Given the description of an element on the screen output the (x, y) to click on. 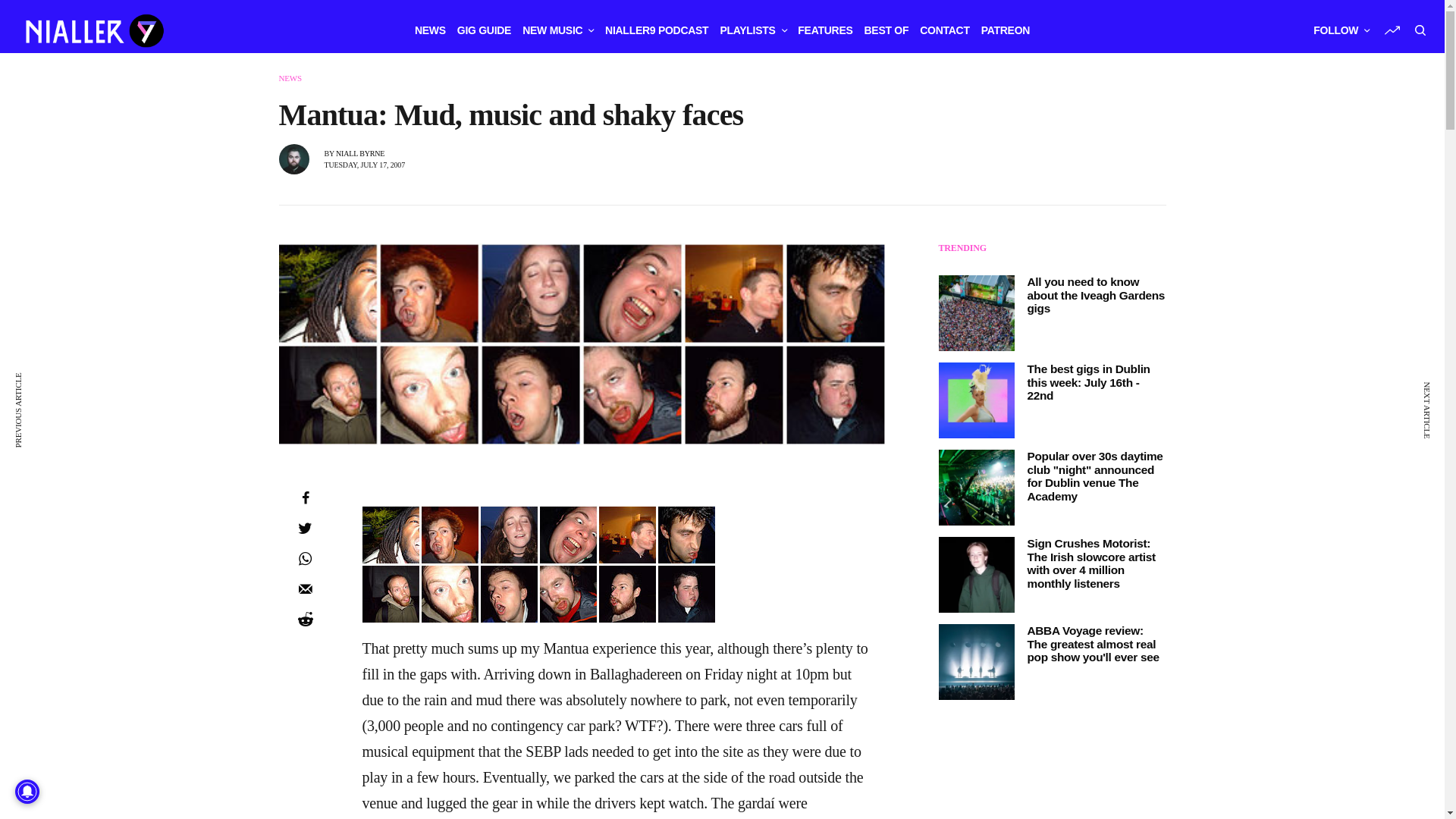
Best Of (886, 30)
Playlists (752, 30)
Nialler9 (92, 30)
